Given the description of an element on the screen output the (x, y) to click on. 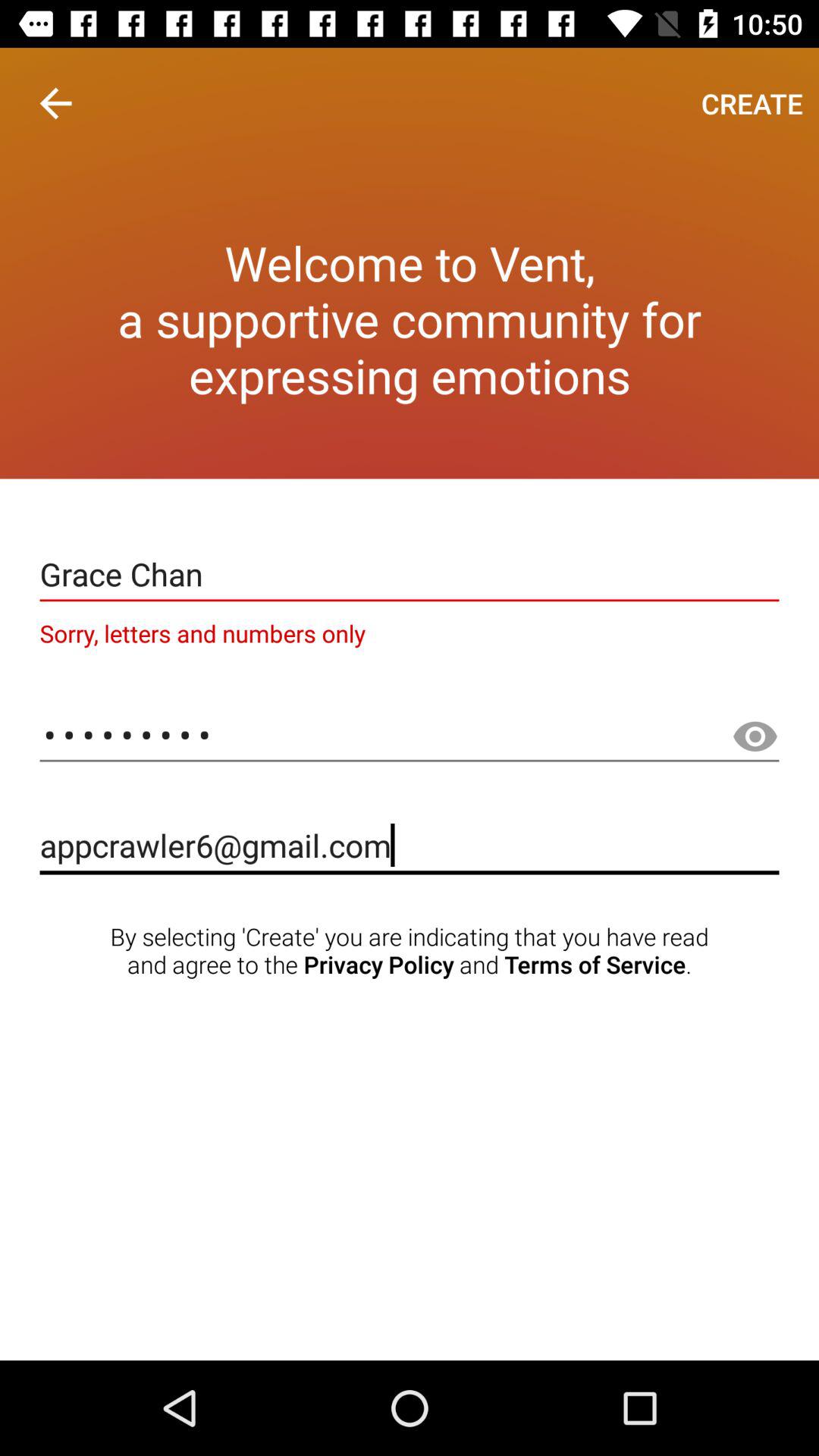
view password (755, 737)
